Given the description of an element on the screen output the (x, y) to click on. 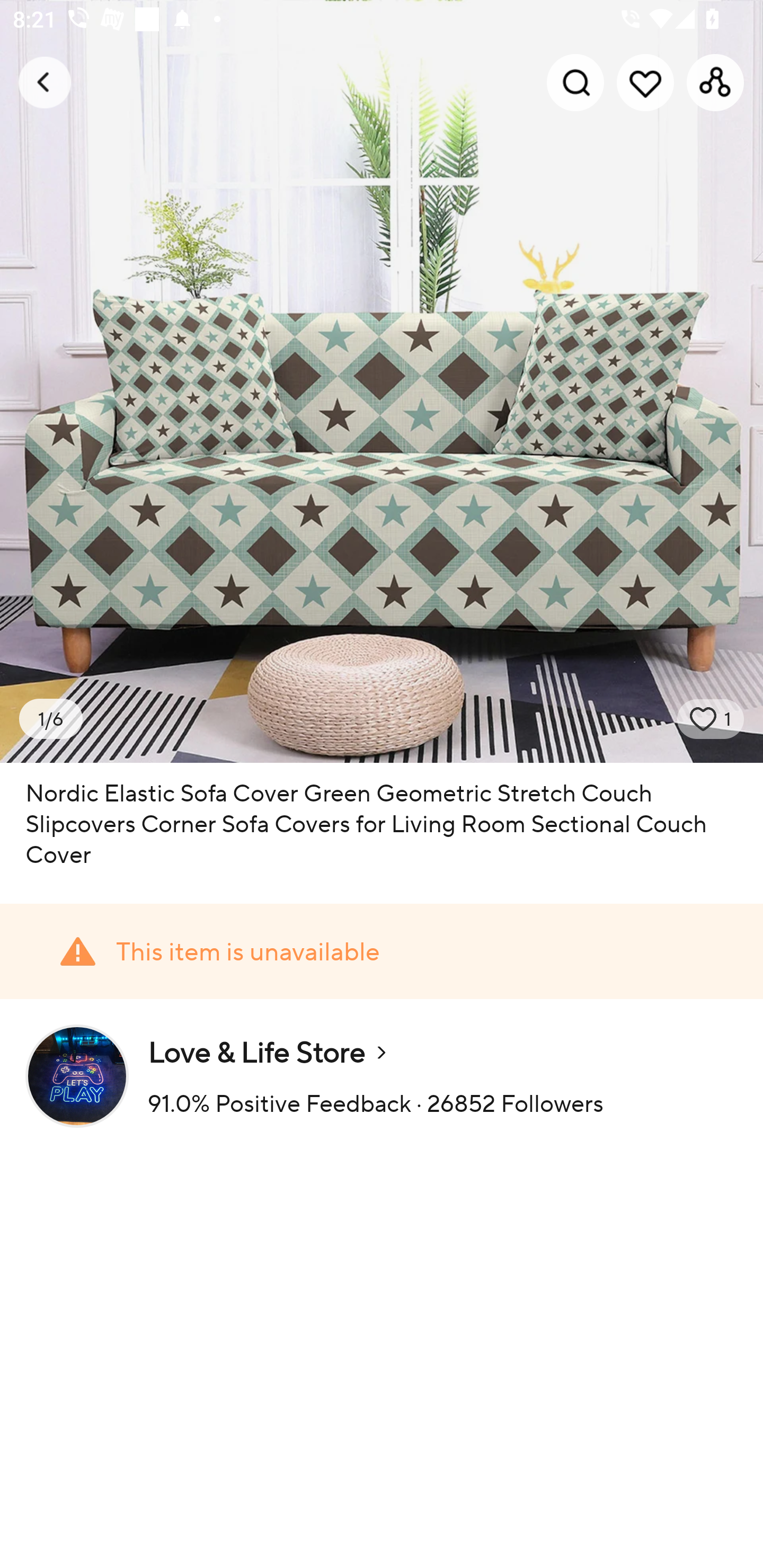
Navigate up (44, 82)
wish state 1 (710, 718)
